Given the description of an element on the screen output the (x, y) to click on. 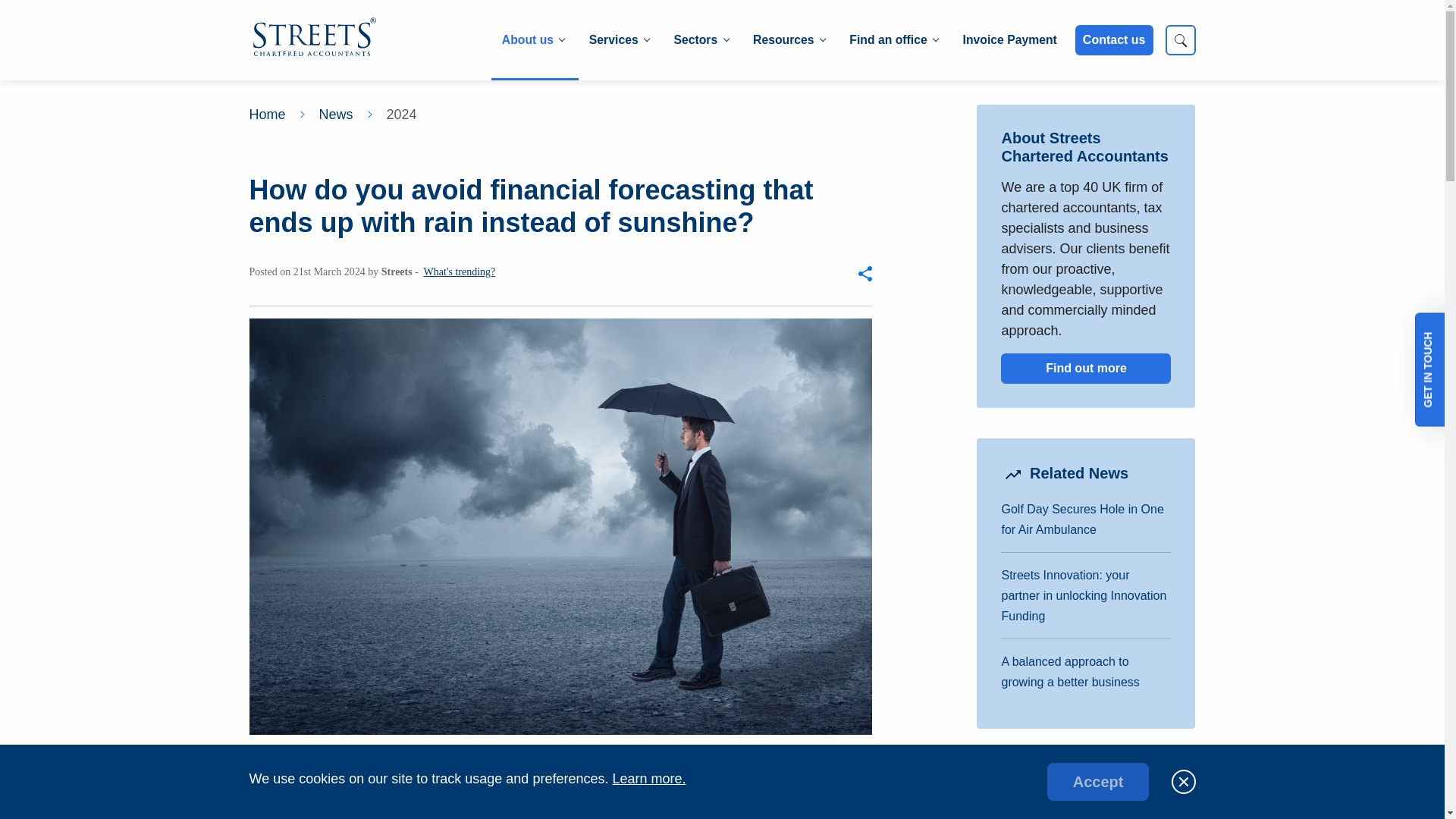
Open submenu for Sectors (701, 40)
About us (532, 40)
Read A balanced approach to growing a better business (1069, 671)
Open submenu for Services (619, 40)
Read Golf Day Secures Hole in One for Air Ambulance (1082, 519)
Contact us (1114, 40)
Invoice Payment (1009, 40)
Search (1179, 40)
Return to homepage (313, 40)
